Given the description of an element on the screen output the (x, y) to click on. 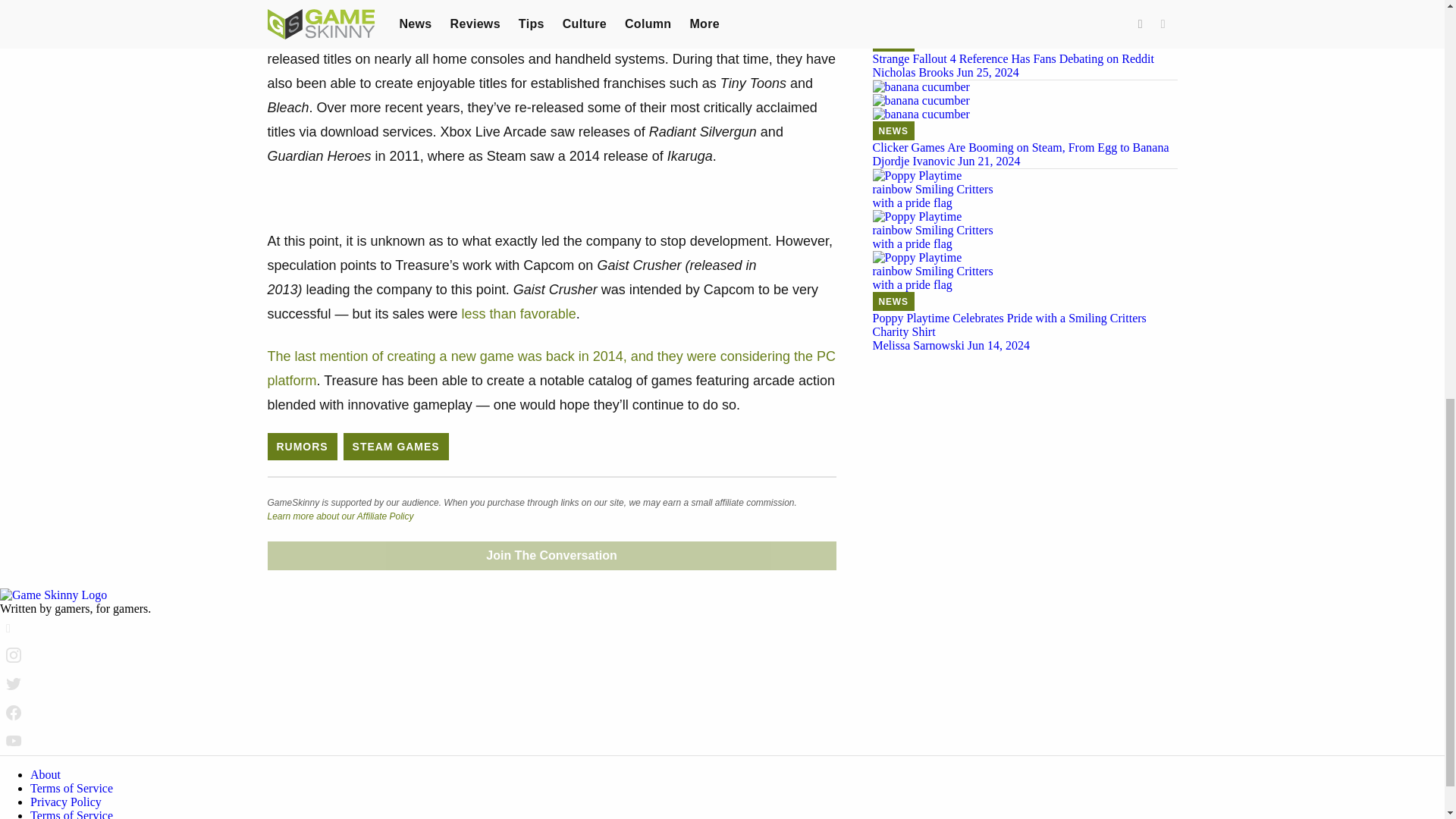
Join The Conversation (550, 555)
